Given the description of an element on the screen output the (x, y) to click on. 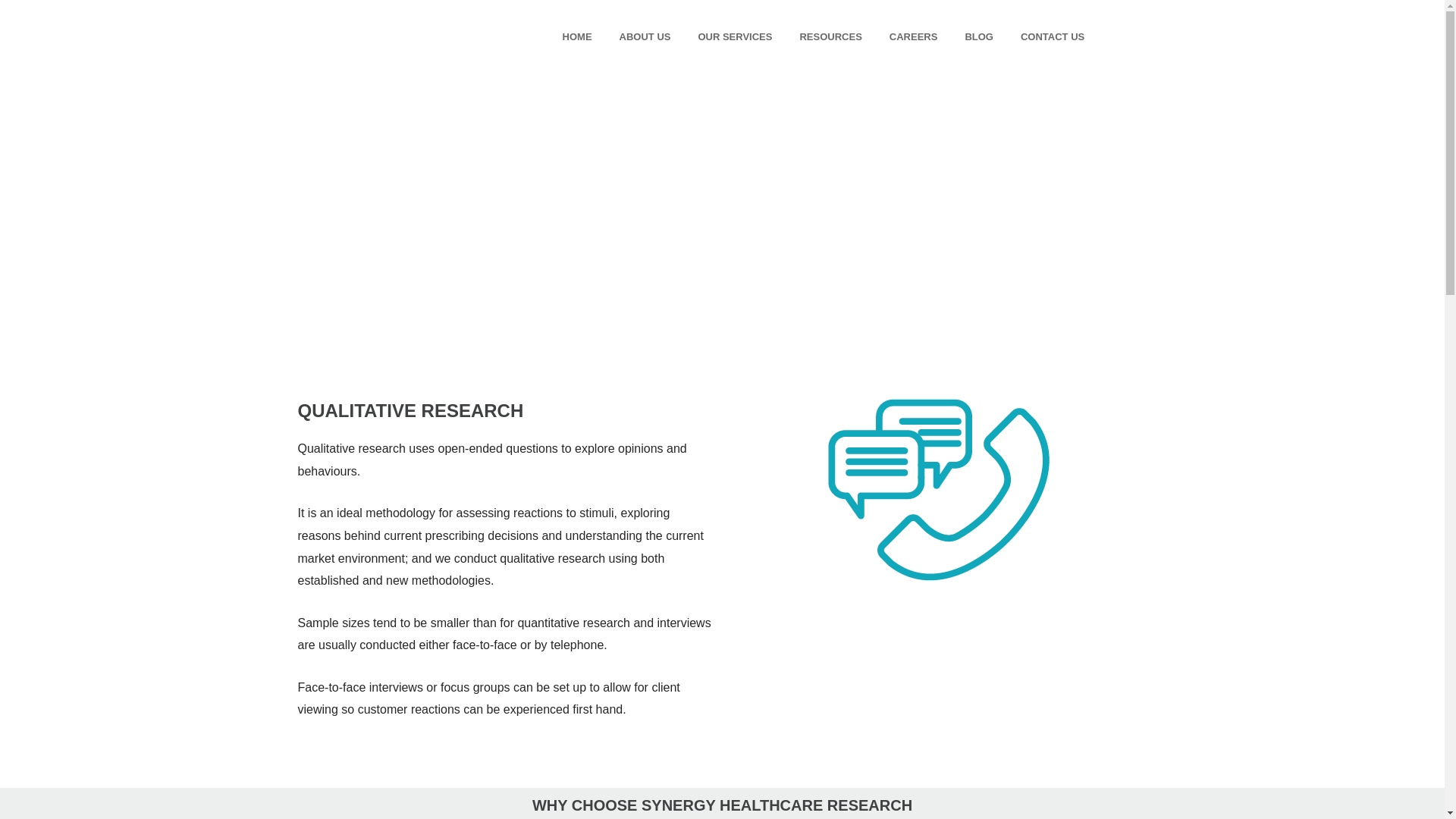
OUR SERVICES (735, 36)
CAREERS (914, 36)
BLOG (978, 36)
RESOURCES (830, 36)
ABOUT US (644, 36)
HOME (576, 36)
CONTACT US (1052, 36)
